Given the description of an element on the screen output the (x, y) to click on. 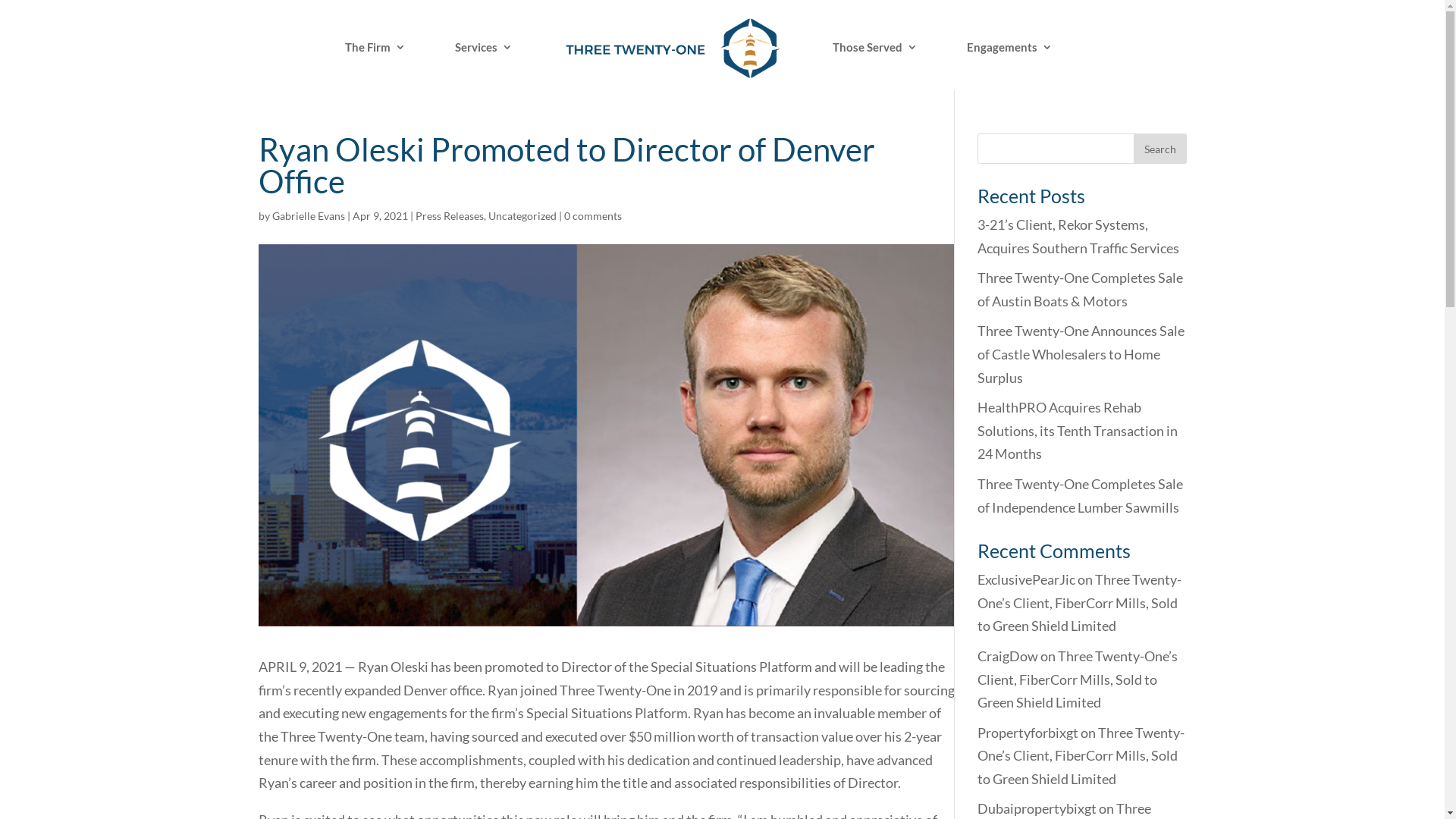
The Firm Element type: text (375, 65)
Three Twenty-One Completes Sale of Austin Boats & Motors Element type: text (1079, 289)
Press Releases Element type: text (449, 215)
Services Element type: text (483, 65)
Those Served Element type: text (874, 65)
Dubaipropertybixgt Element type: text (1035, 808)
ExclusivePearJic Element type: text (1025, 579)
Propertyforbixgt Element type: text (1026, 732)
Gabrielle Evans Element type: text (307, 215)
0 comments Element type: text (592, 215)
Engagements Element type: text (1009, 65)
Search Element type: text (1159, 148)
Uncategorized Element type: text (522, 215)
